Given the description of an element on the screen output the (x, y) to click on. 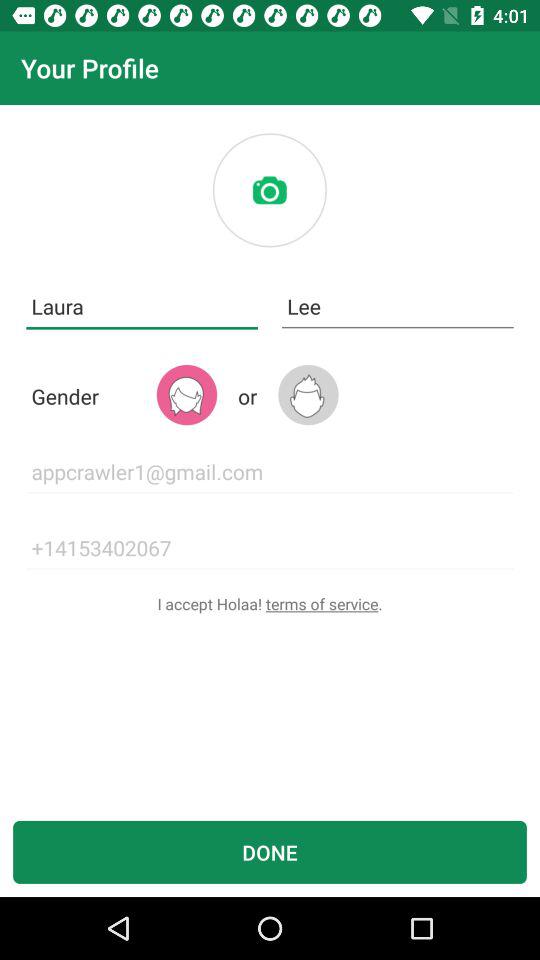
jump to i accept holaa icon (269, 603)
